Given the description of an element on the screen output the (x, y) to click on. 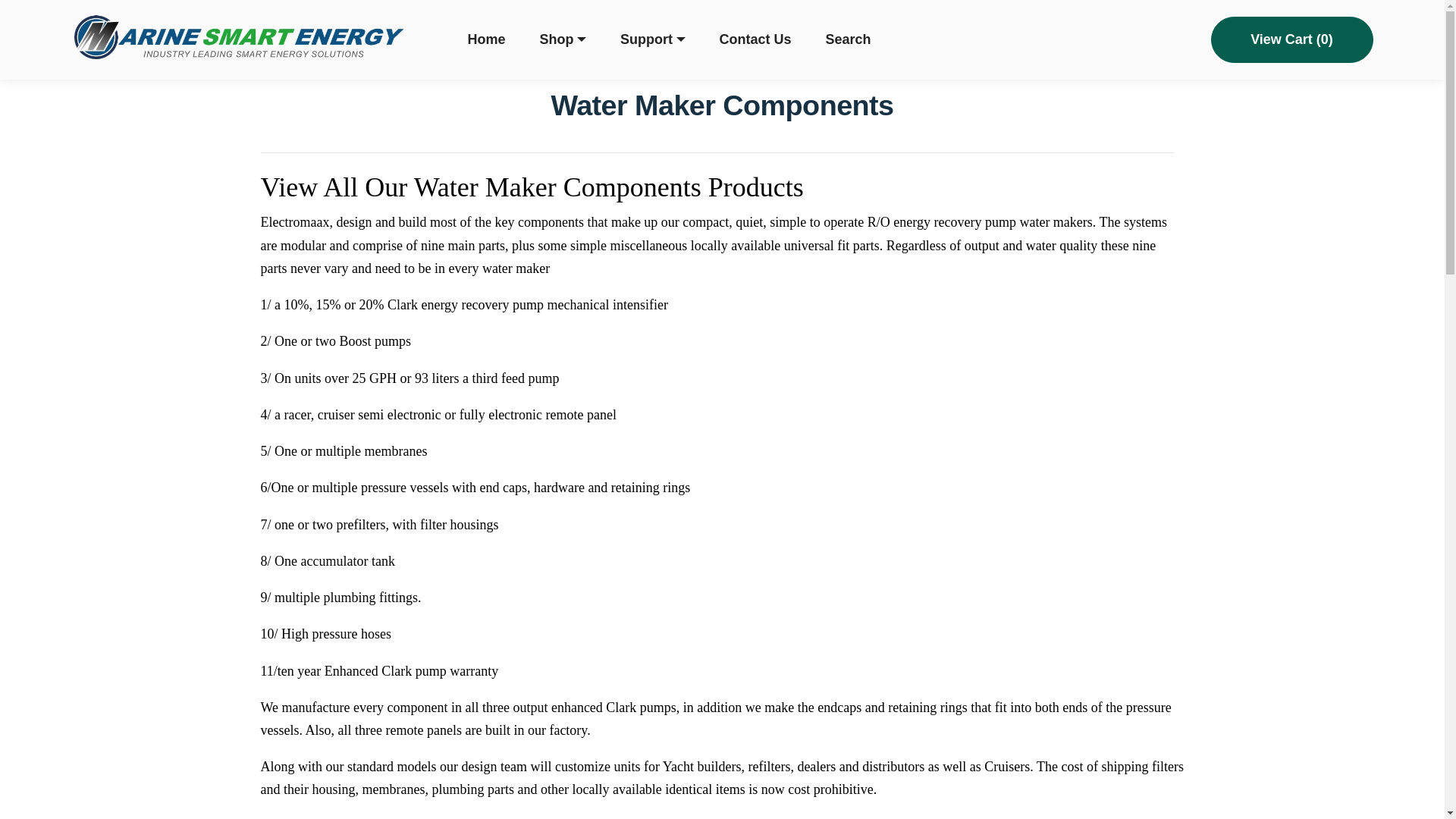
Contact Us (755, 39)
Search (847, 39)
Support (652, 39)
Home (486, 39)
Shop (563, 39)
Marine Smart Energy logo (238, 38)
